Given the description of an element on the screen output the (x, y) to click on. 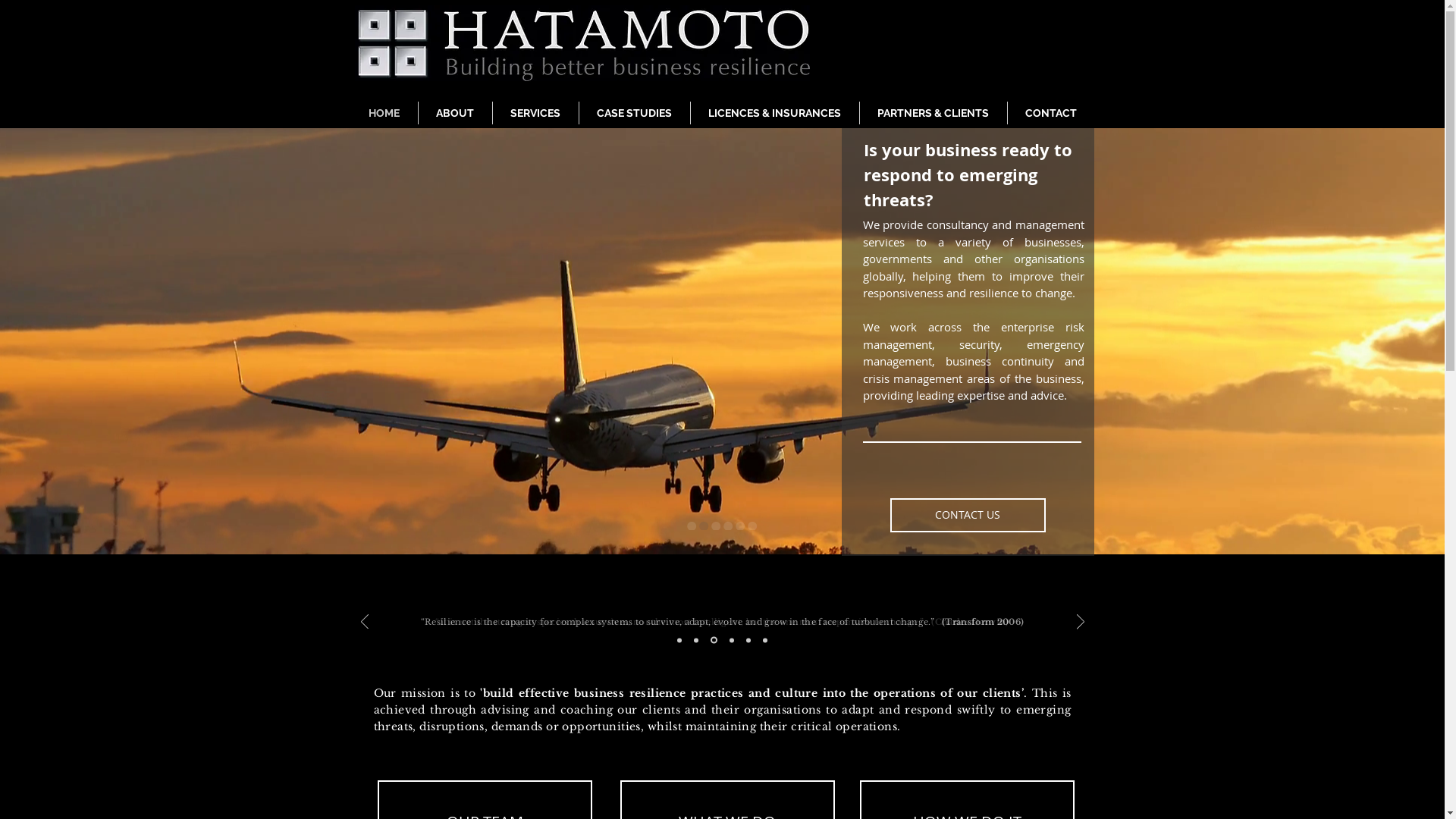
LICENCES & INSURANCES Element type: text (774, 112)
ABOUT Element type: text (455, 112)
SERVICES Element type: text (535, 112)
PARTNERS & CLIENTS Element type: text (933, 112)
CASE STUDIES Element type: text (634, 112)
CONTACT US Element type: text (967, 514)
HOME Element type: text (383, 112)
CONTACT Element type: text (1050, 112)
